Given the description of an element on the screen output the (x, y) to click on. 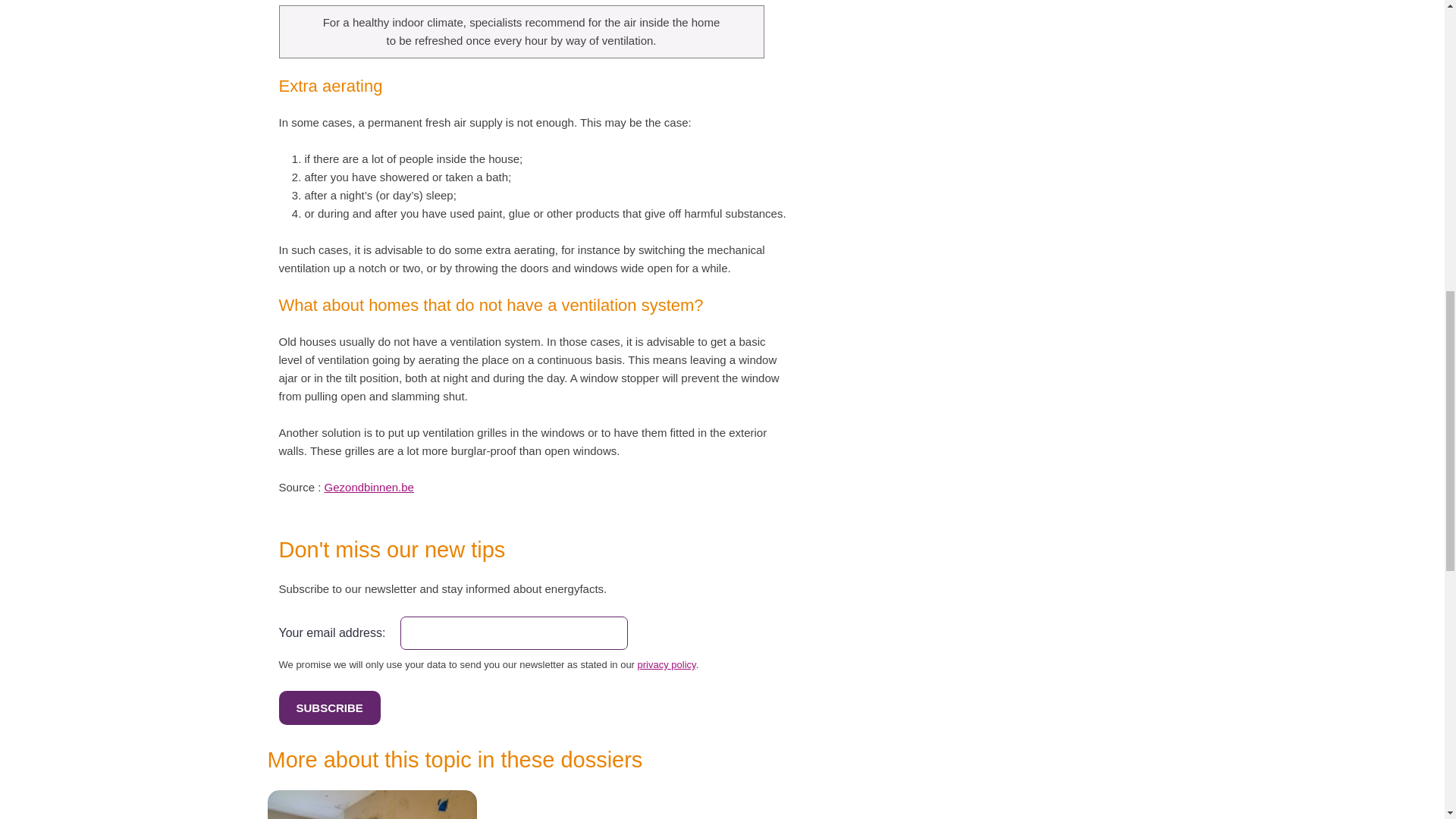
Gezondbinnen.be (368, 486)
SUBSCRIBE (329, 707)
privacy policy (666, 664)
